Given the description of an element on the screen output the (x, y) to click on. 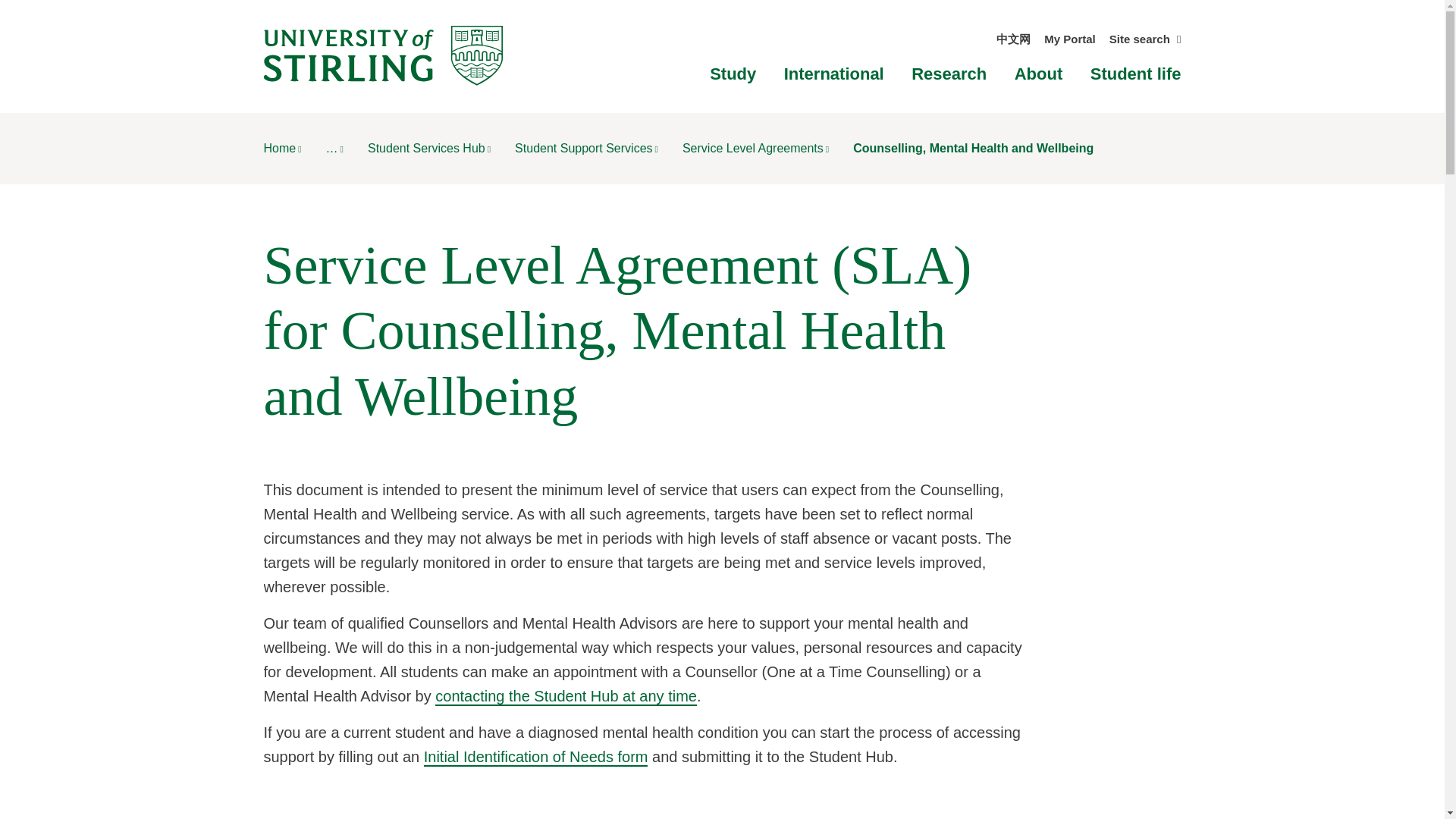
Home (282, 147)
University of Stirling (382, 54)
Student Services Hub (429, 147)
Student life (1135, 73)
International (833, 73)
home page (282, 147)
Research (949, 73)
About (1038, 73)
Site search (1144, 38)
Study (732, 73)
